Given the description of an element on the screen output the (x, y) to click on. 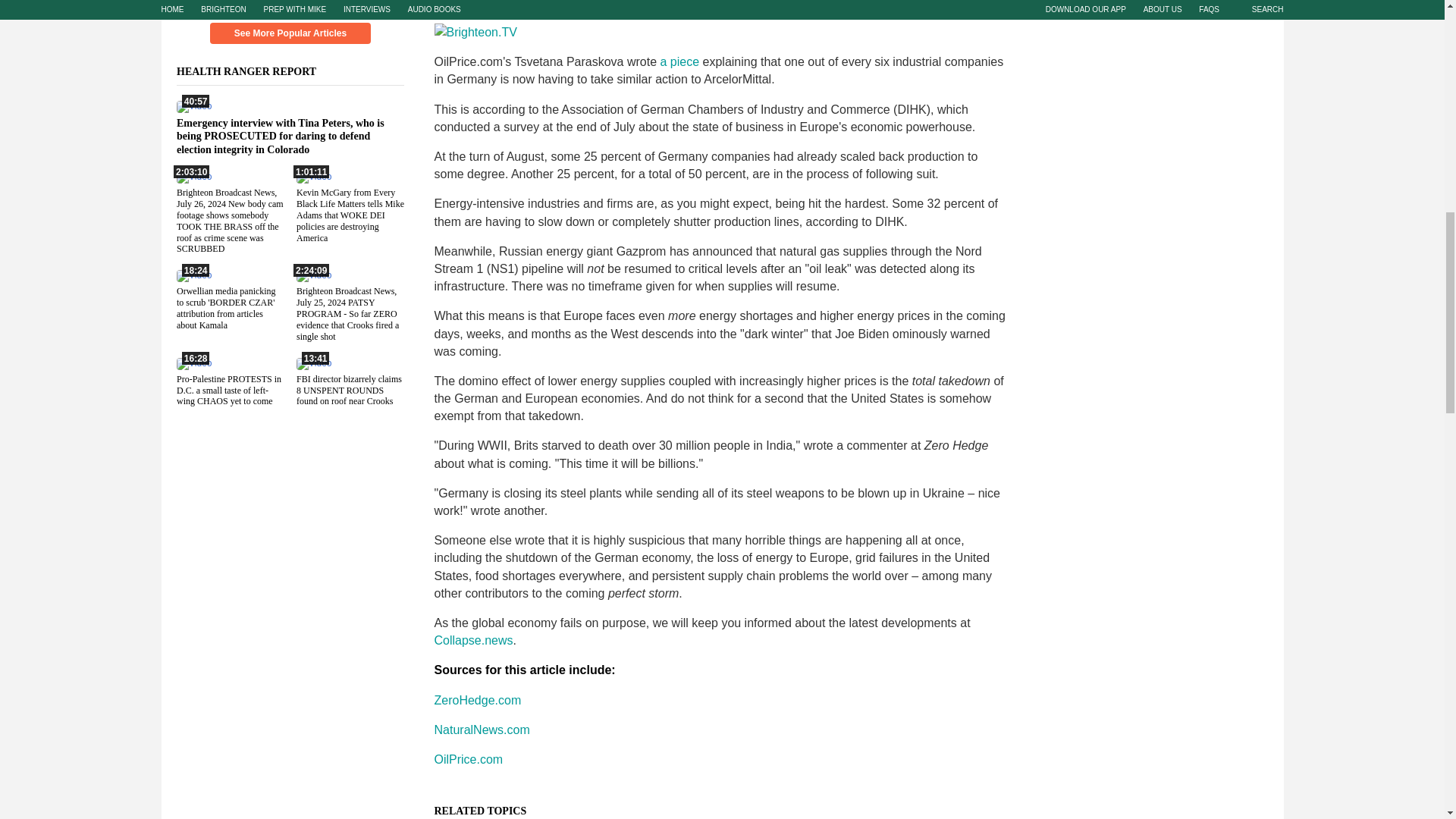
HEALTH RANGER REPORT (254, 71)
2:24:09 (312, 275)
13:41 (312, 362)
2:03:10 (193, 176)
40:57 (193, 105)
16:28 (193, 362)
Scroll Down (290, 6)
18:24 (193, 275)
